Given the description of an element on the screen output the (x, y) to click on. 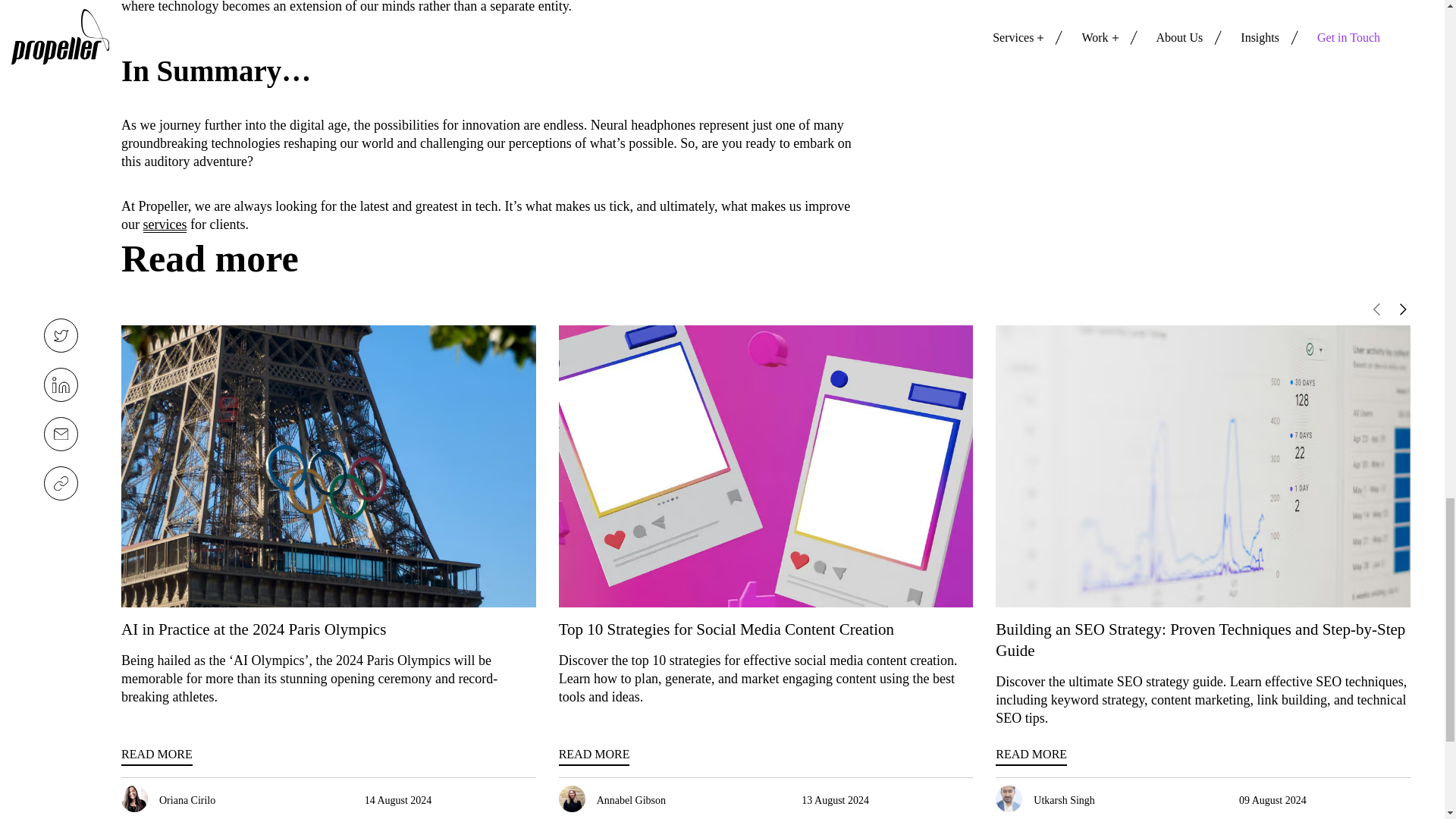
READ MORE (156, 755)
READ MORE (1031, 755)
services (164, 224)
READ MORE (594, 755)
